Given the description of an element on the screen output the (x, y) to click on. 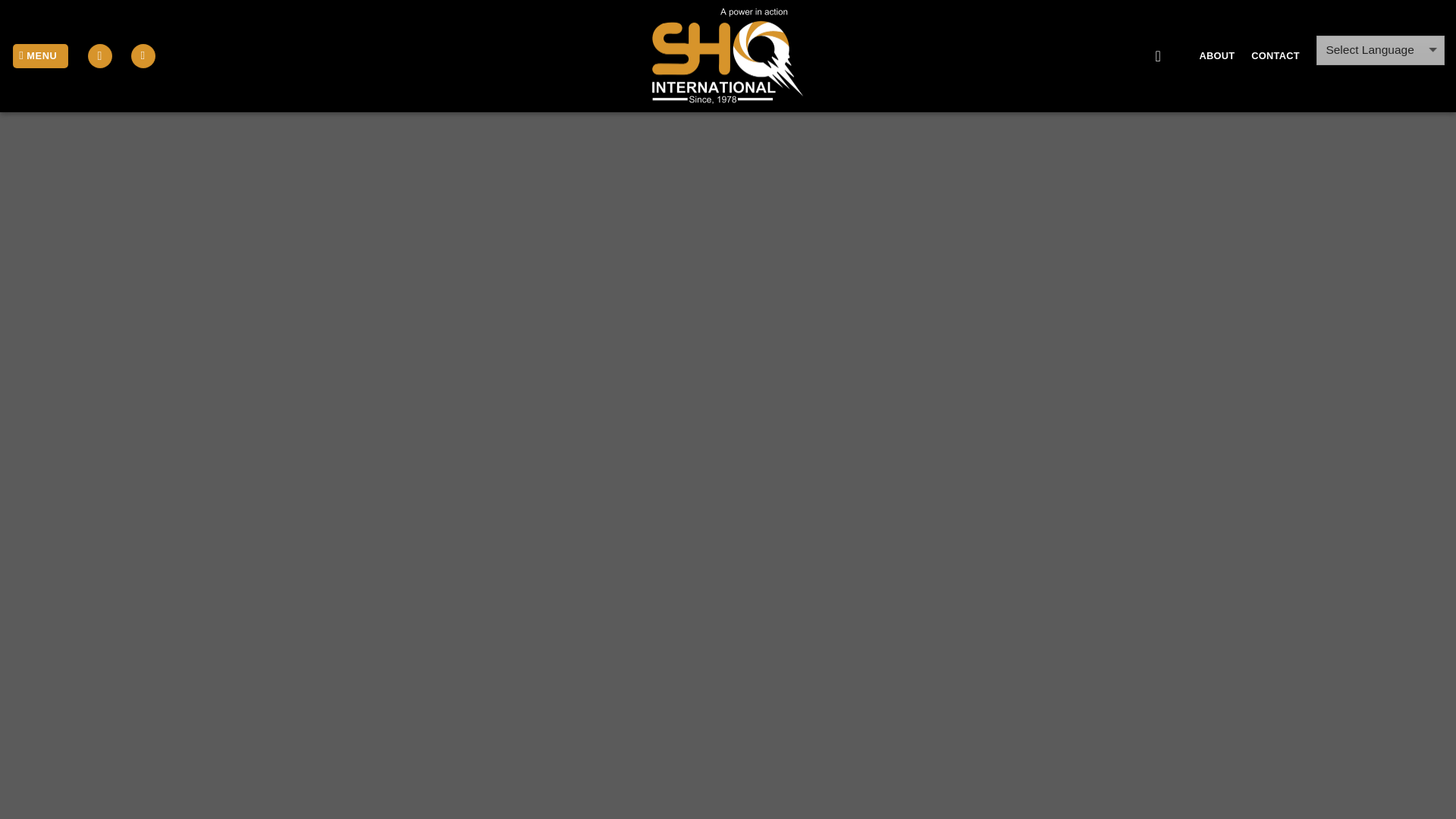
CONTACT (1274, 55)
SHQ International -  (727, 56)
MENU (40, 56)
ABOUT (1216, 55)
Sign up for Newsletter (143, 56)
